Given the description of an element on the screen output the (x, y) to click on. 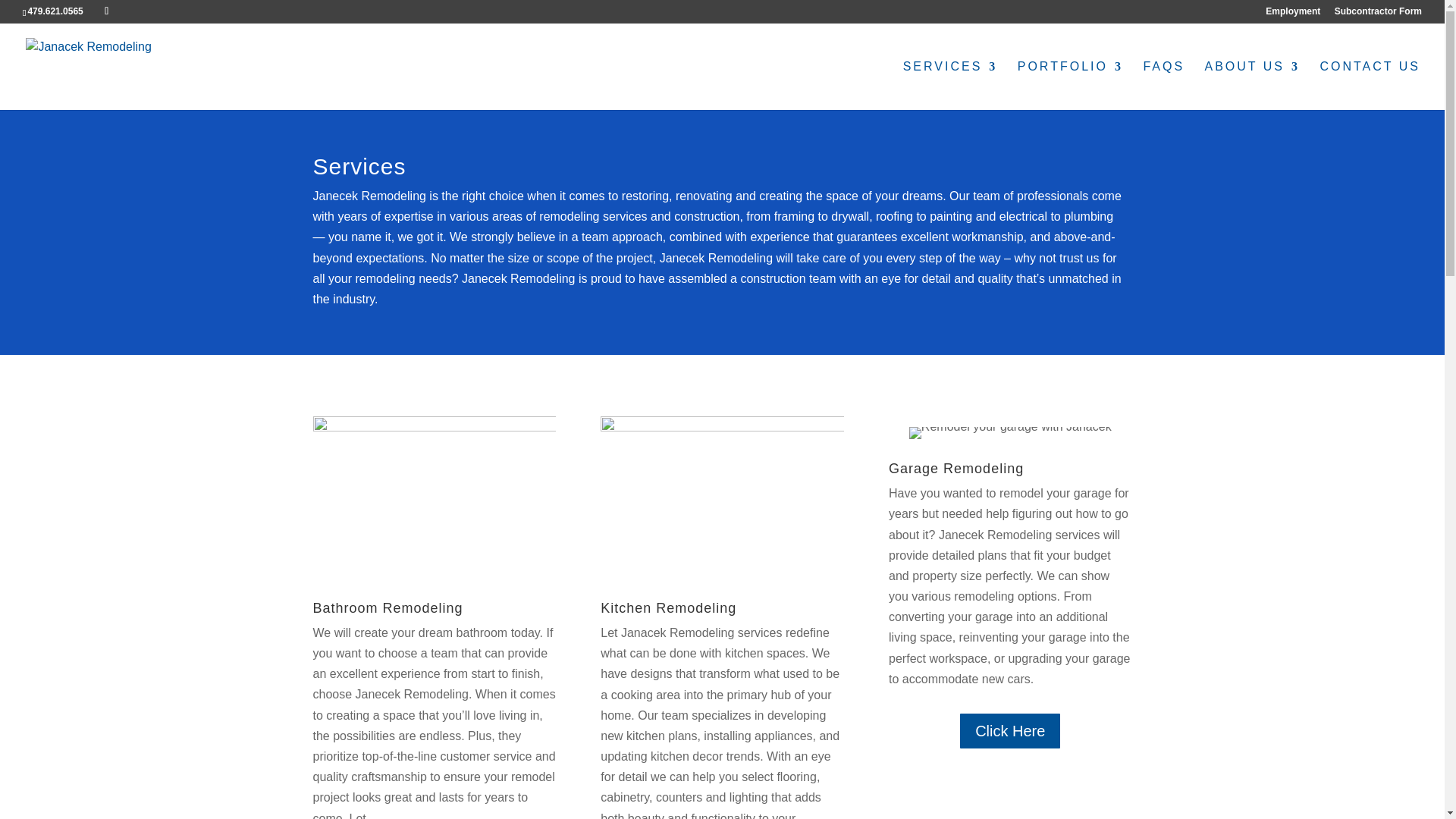
Subcontractor Form (1378, 14)
479.621.0565 (54, 10)
FAQS (1163, 85)
PORTFOLIO (1069, 85)
Employment (1292, 14)
ABOUT US (1252, 85)
CONTACT US (1370, 85)
Contact Us Today (1370, 85)
SERVICES (949, 85)
